Given the description of an element on the screen output the (x, y) to click on. 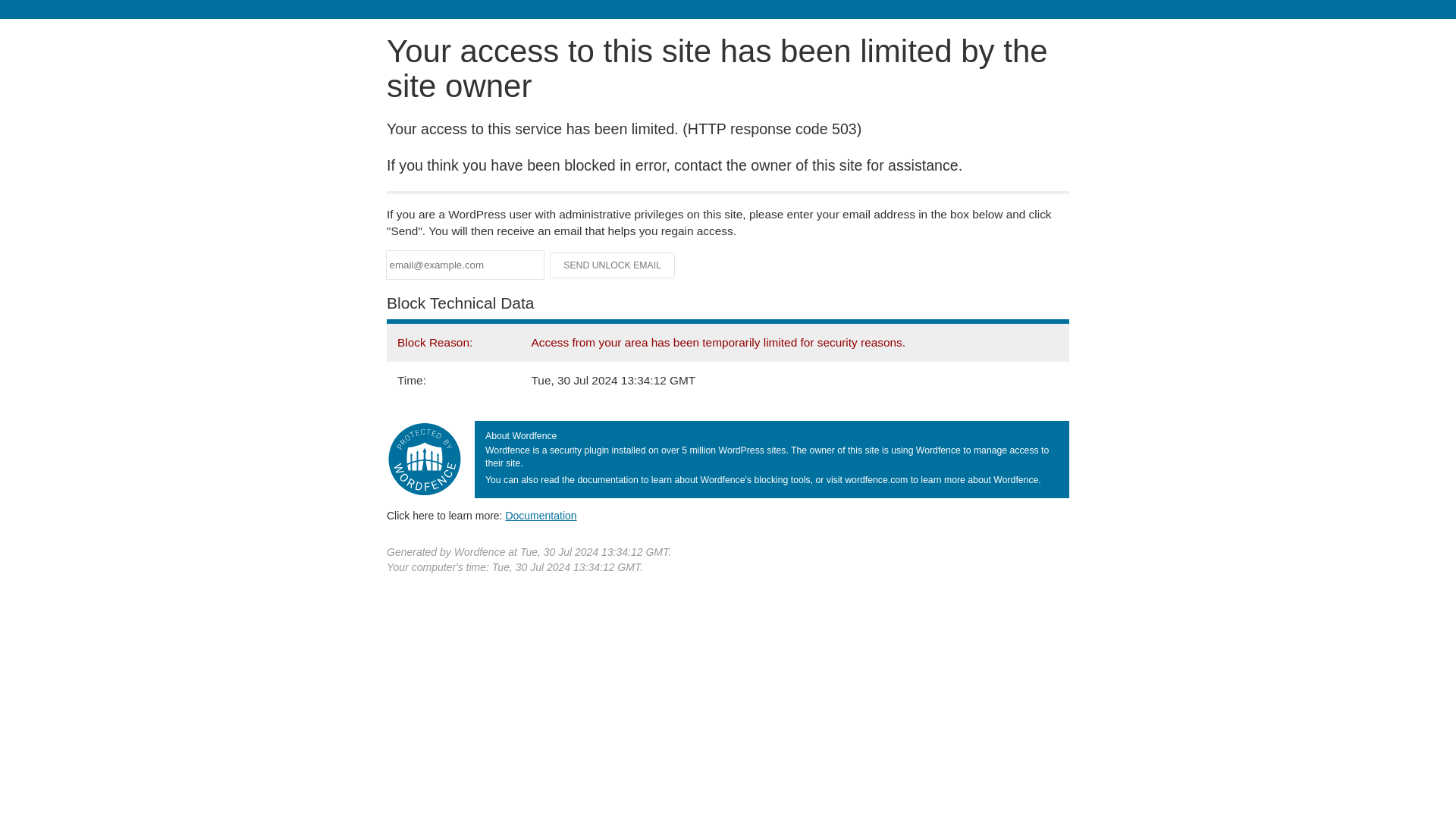
Documentation (540, 515)
Send Unlock Email (612, 265)
Send Unlock Email (612, 265)
